Given the description of an element on the screen output the (x, y) to click on. 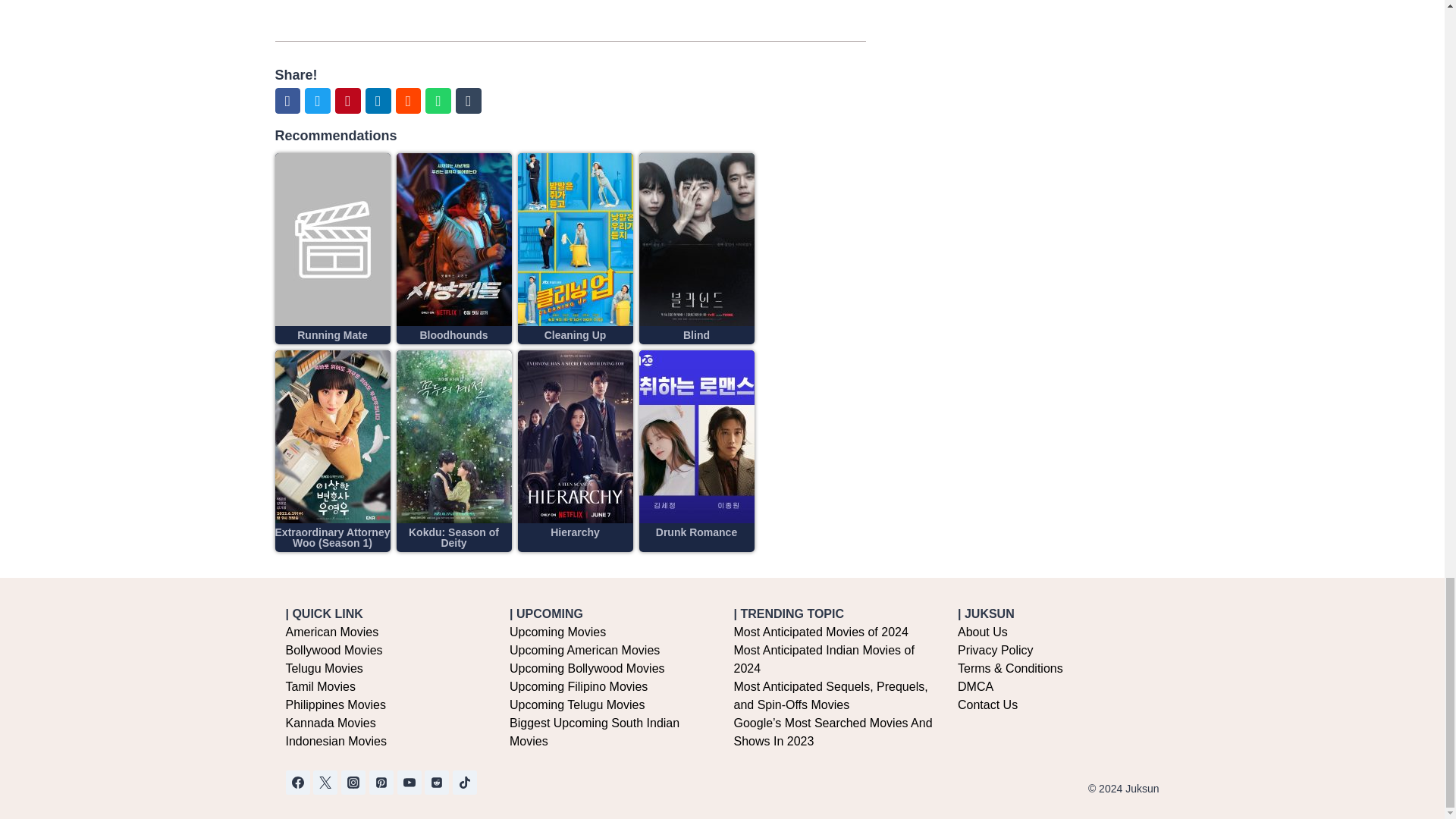
Blind (696, 335)
Kokdu-Season-of-Deity-TV-Series-Poster (453, 436)
Drunk Romance (696, 532)
Drunk-Romance-TV-Series-Picture (696, 436)
Cleaning-Up-TV-Series-Poster (573, 239)
Kokdu: Season of Deity (454, 537)
Running Mate (332, 335)
Cleaning Up (575, 335)
Juksun-Movie (332, 239)
Bloodhounds (453, 335)
Bloodhounds-TV-Series-Poster (453, 239)
Hierarchy (574, 532)
Blind-TV-Series-Poster (696, 239)
Hierarchy-TV-Series-Poster (573, 436)
Extraordinary-Attorney-Woo-TV-Series-Poster (332, 436)
